Given the description of an element on the screen output the (x, y) to click on. 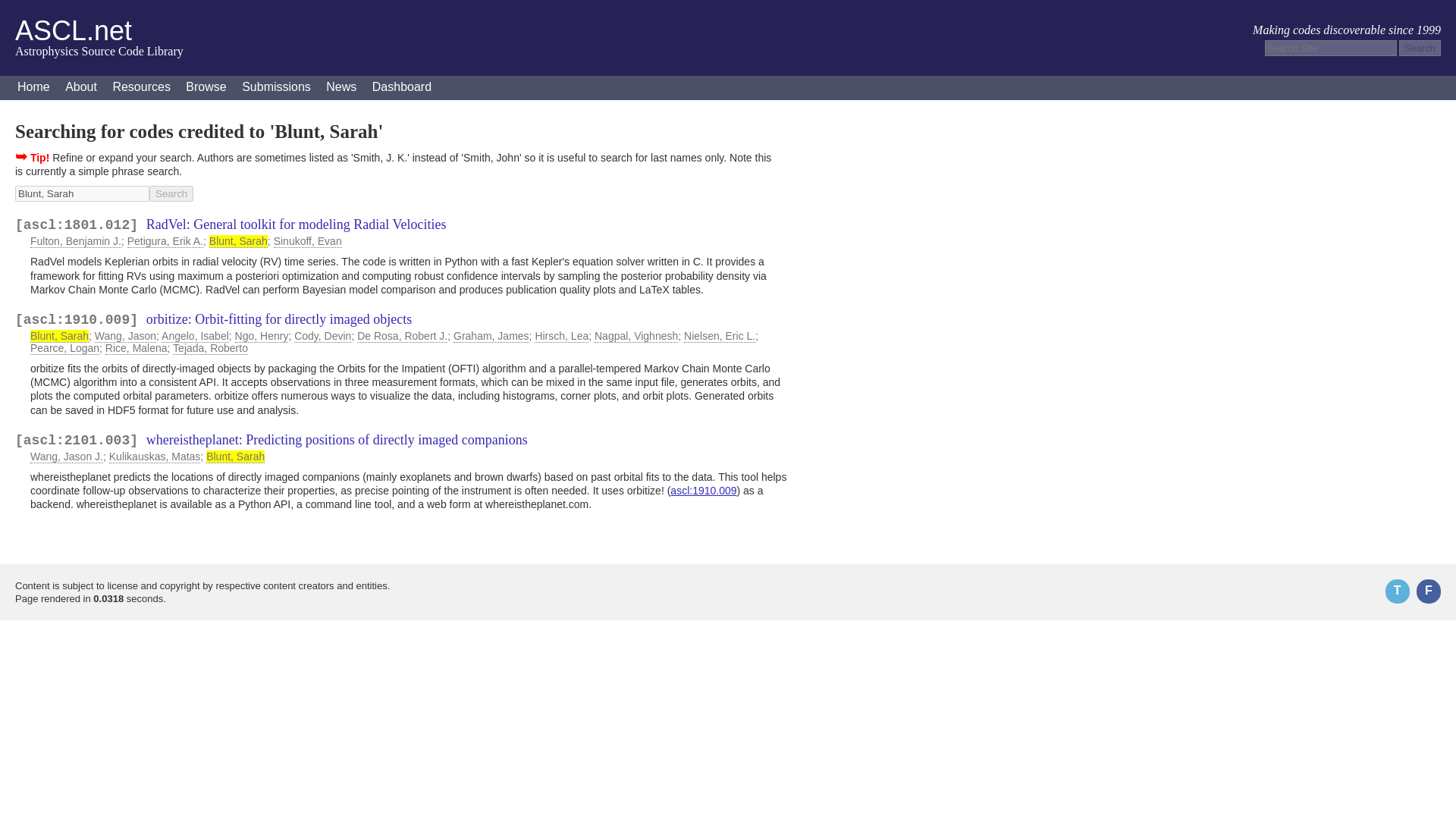
Nielsen, Eric L. (719, 336)
Search (171, 193)
Graham, James (490, 336)
F (1428, 591)
Blunt, Sarah (59, 336)
Dashboard (402, 87)
Pearce, Logan (64, 348)
Cody, Devin (322, 336)
Wang, Jason (124, 336)
Like ASCL on Facebook (1428, 591)
